Given the description of an element on the screen output the (x, y) to click on. 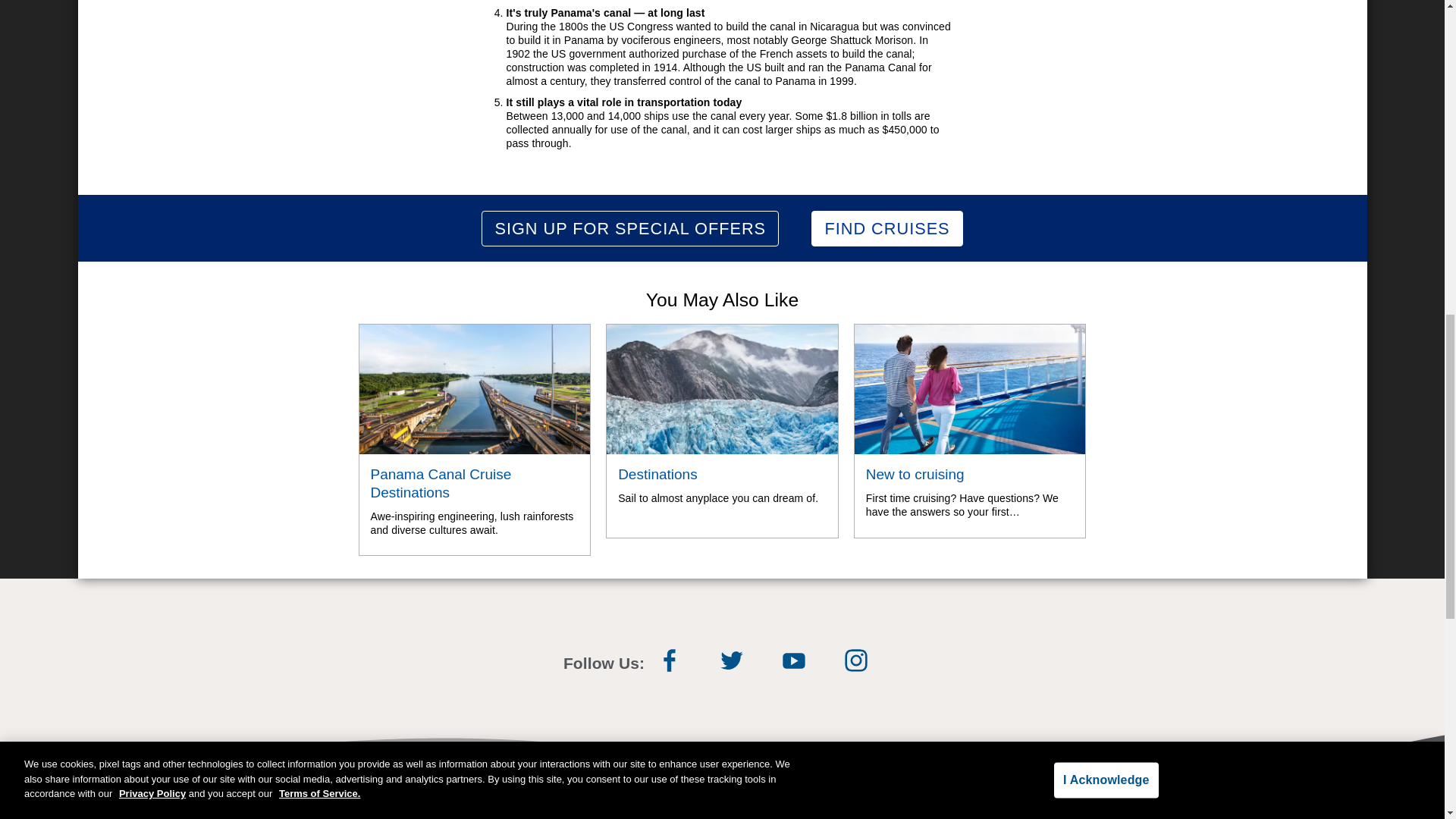
FIND CRUISES (722, 430)
SIGN UP FOR SPECIAL OFFERS (886, 228)
